Given the description of an element on the screen output the (x, y) to click on. 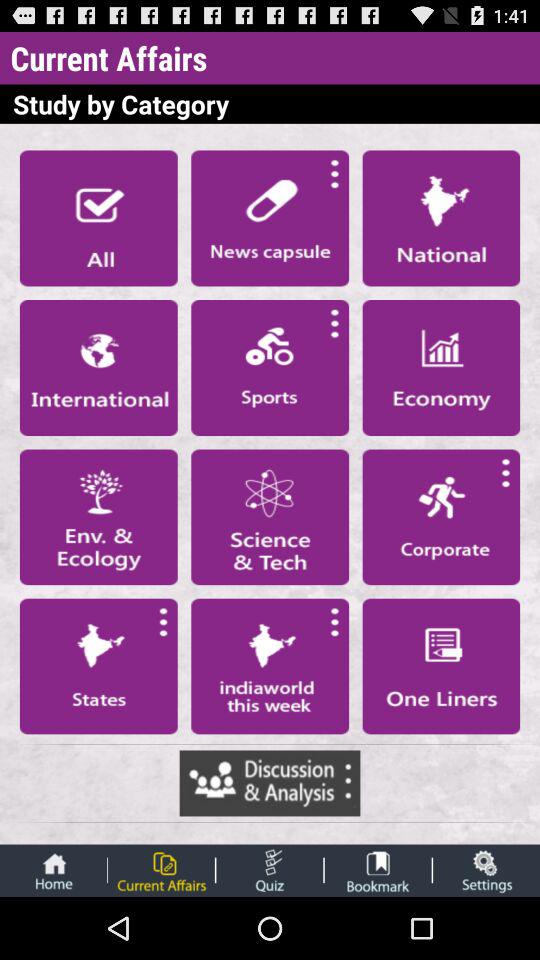
see economy section (441, 367)
